Given the description of an element on the screen output the (x, y) to click on. 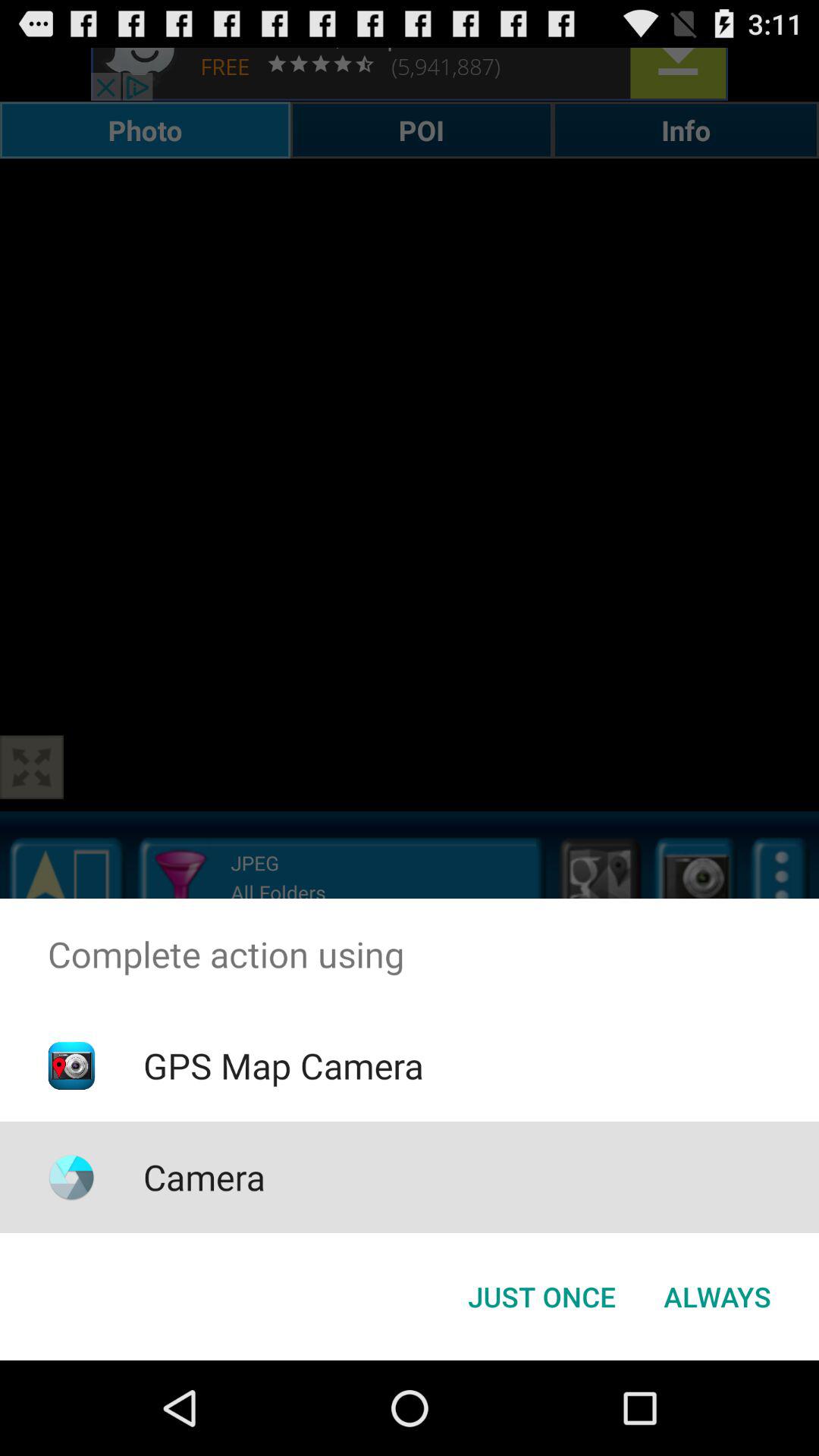
launch icon above camera (283, 1065)
